Given the description of an element on the screen output the (x, y) to click on. 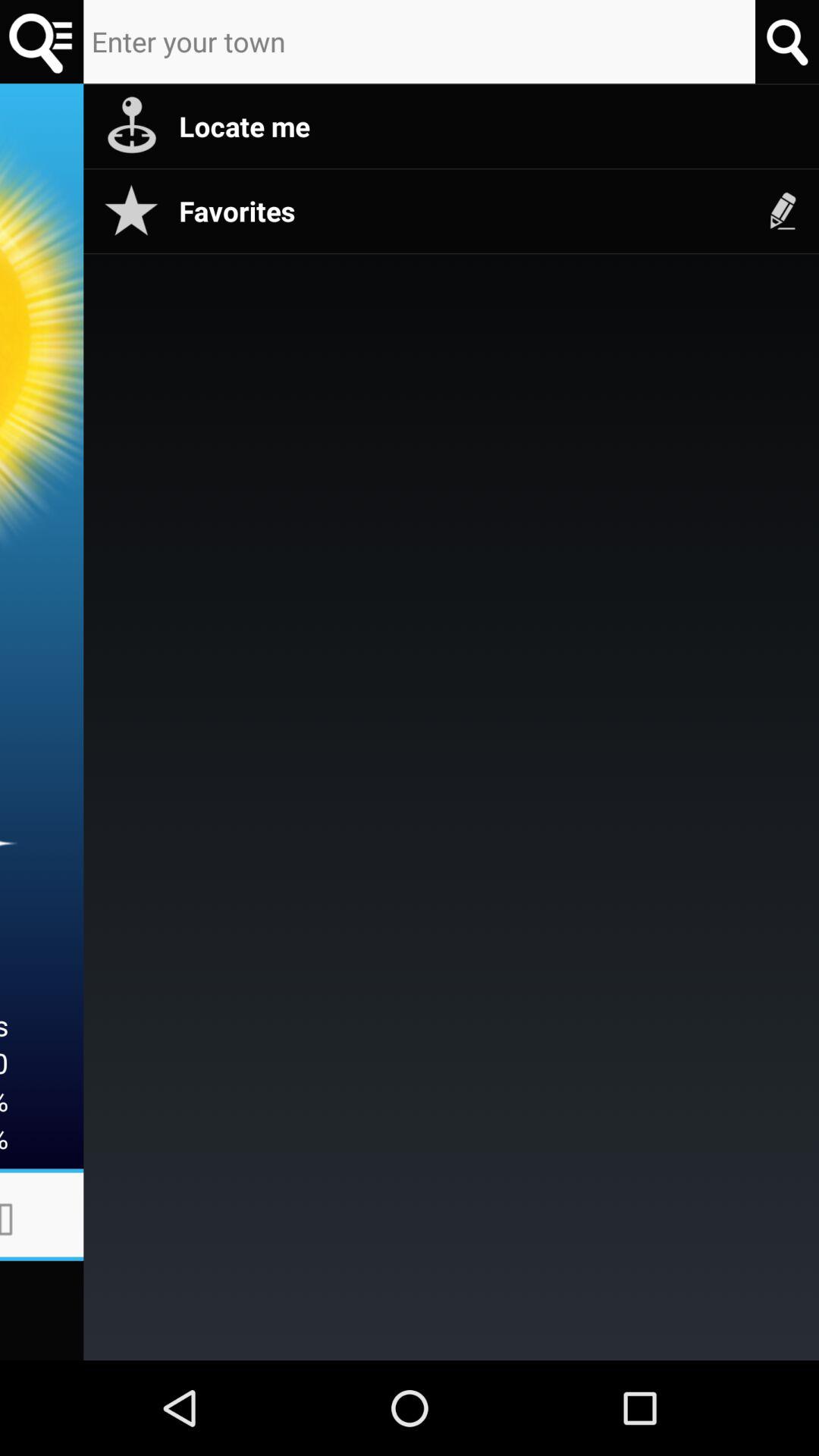
search (41, 41)
